Given the description of an element on the screen output the (x, y) to click on. 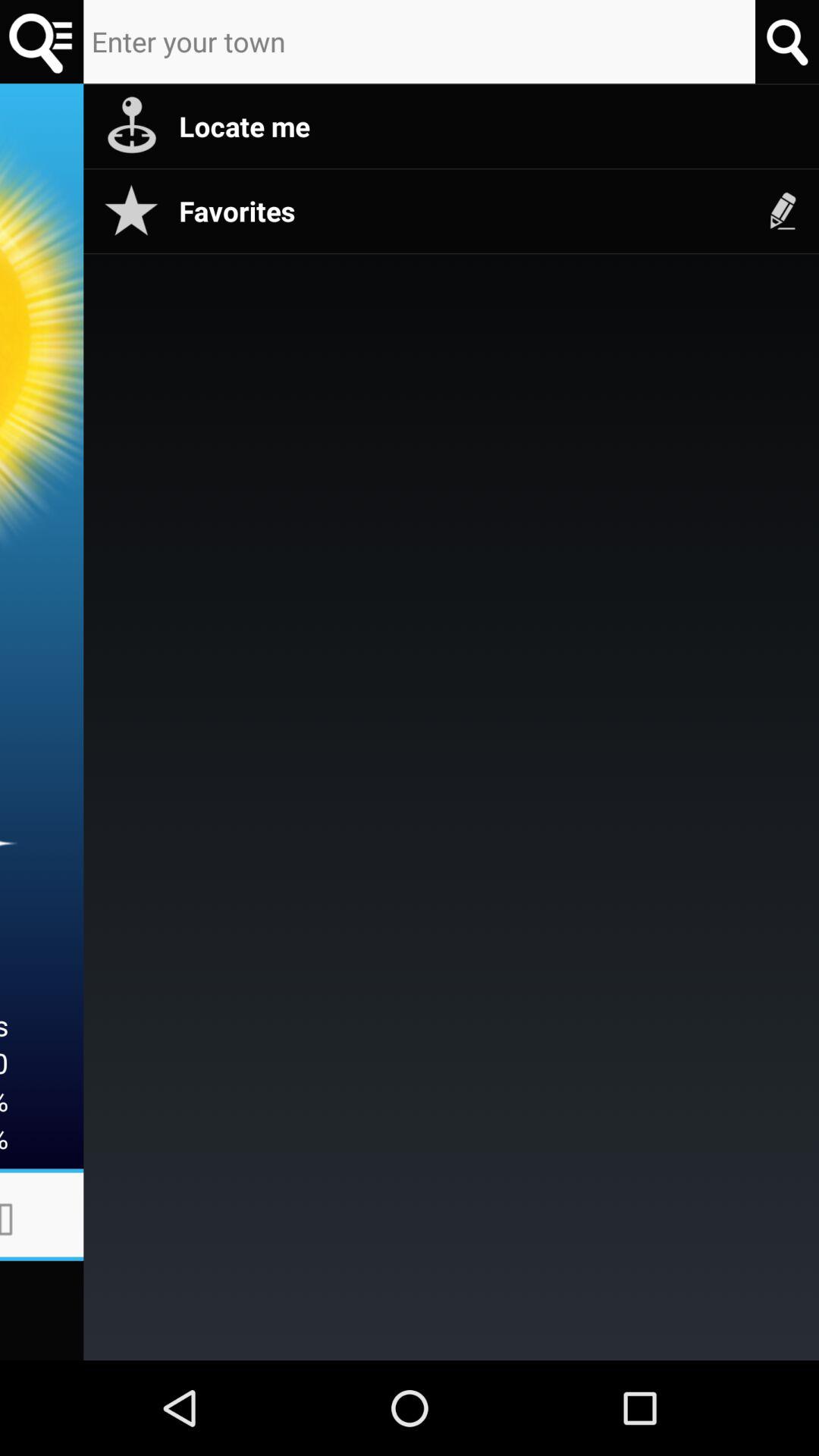
search (41, 41)
